Given the description of an element on the screen output the (x, y) to click on. 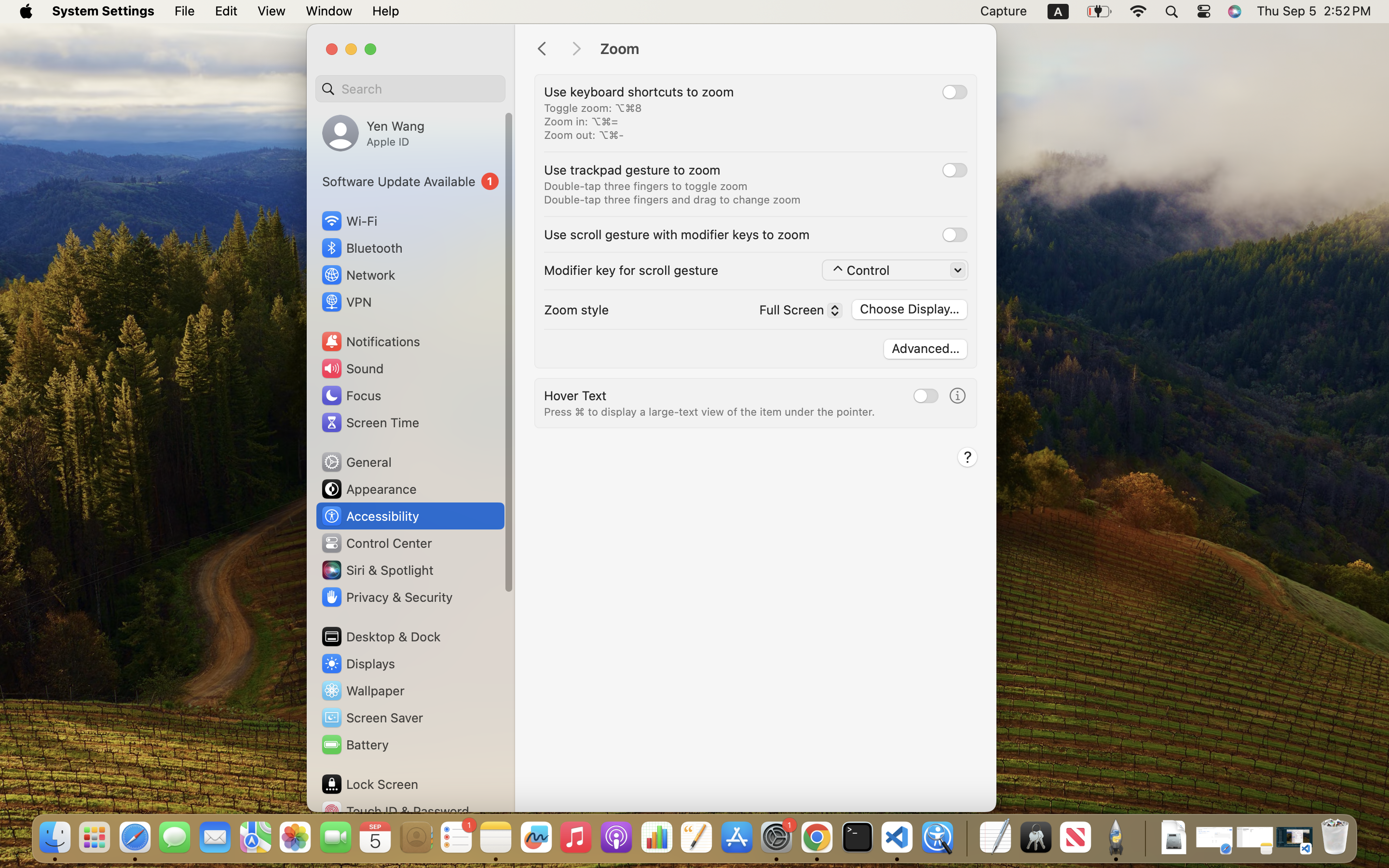
Use keyboard shortcuts to zoom Element type: AXStaticText (639, 91)
Zoom style Element type: AXStaticText (576, 309)
Control Center Element type: AXStaticText (376, 542)
1 Element type: AXStaticText (410, 180)
General Element type: AXStaticText (355, 461)
